Given the description of an element on the screen output the (x, y) to click on. 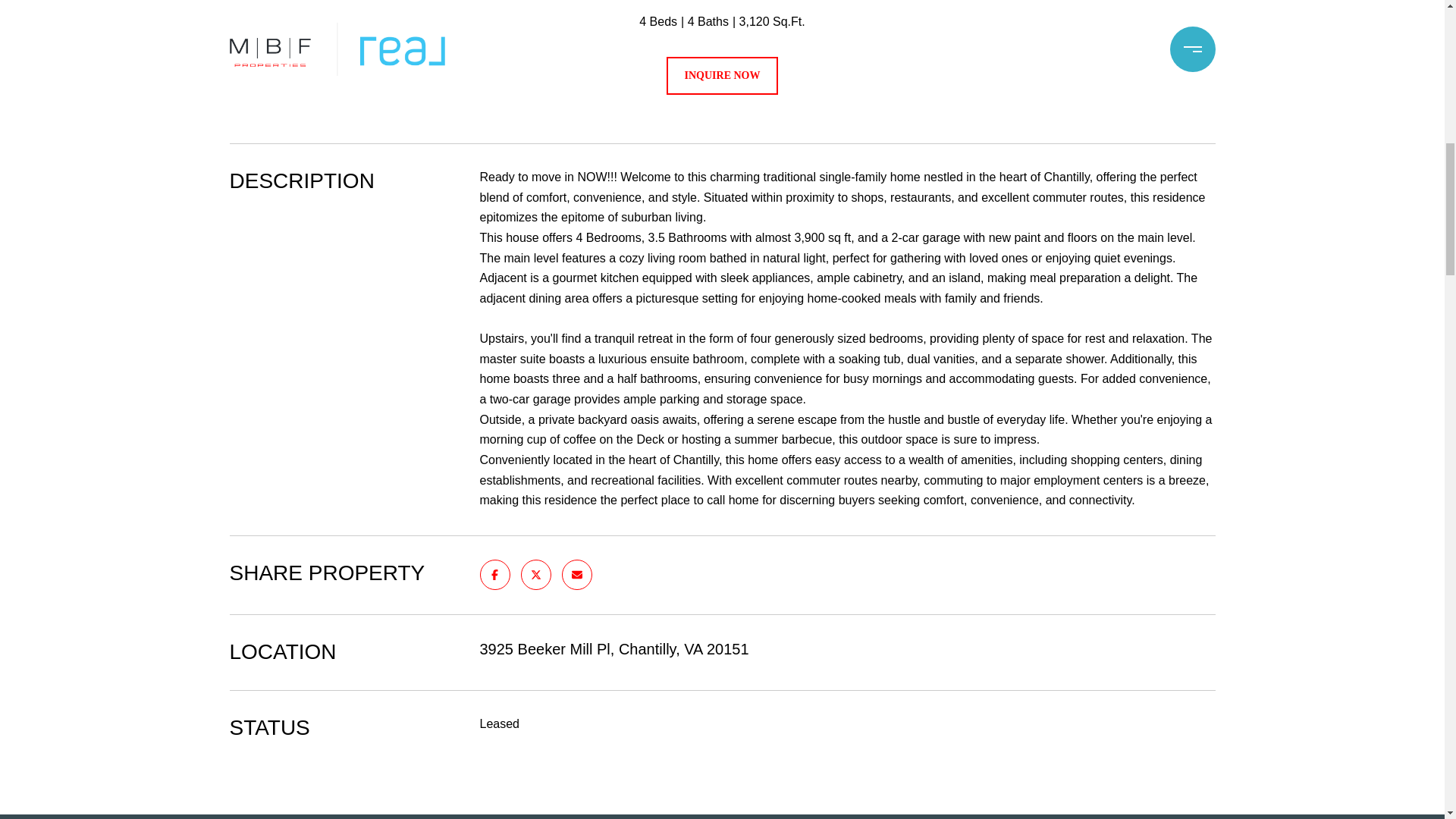
INQUIRE NOW (722, 75)
